Given the description of an element on the screen output the (x, y) to click on. 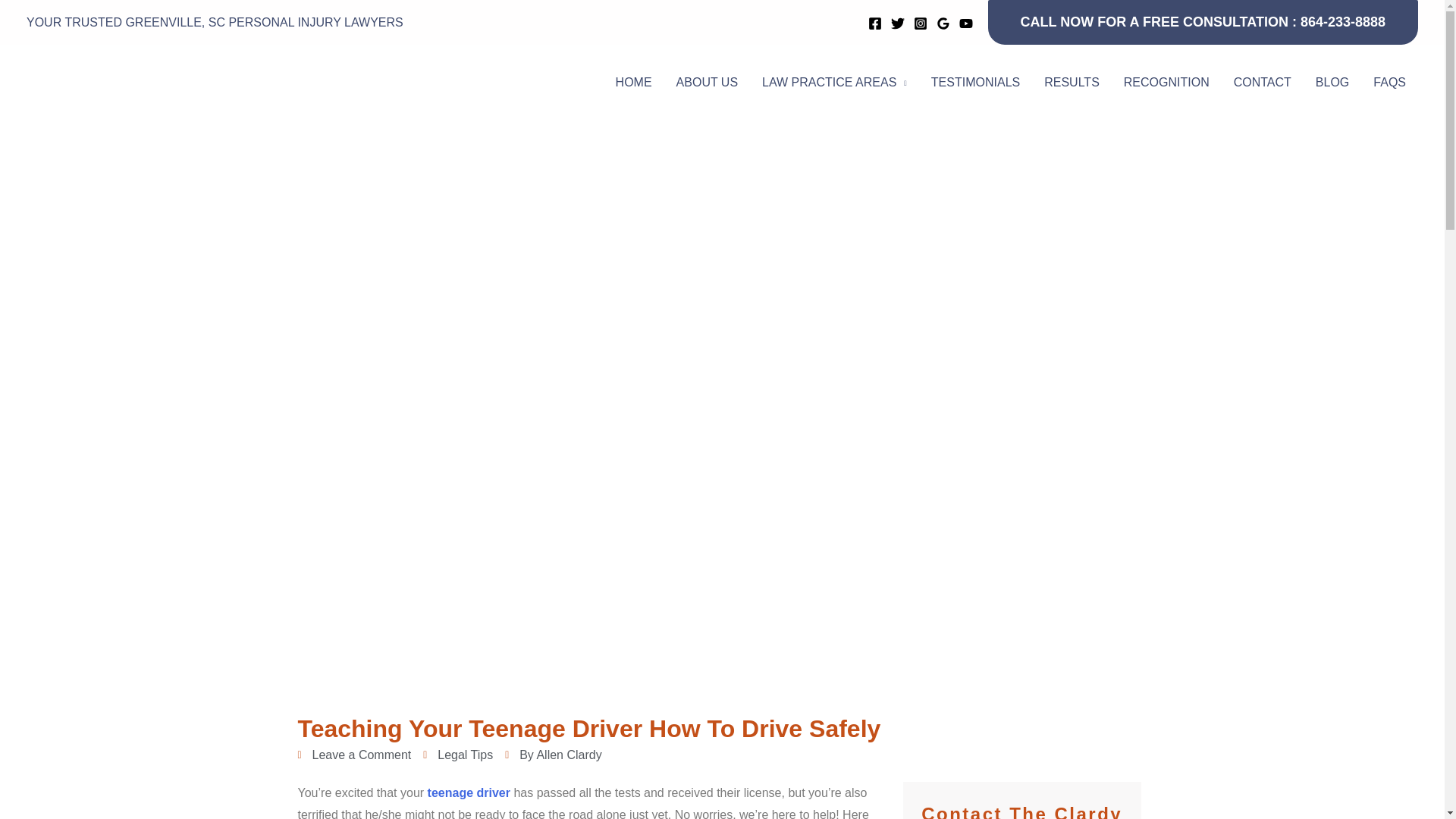
CALL NOW FOR A FREE CONSULTATION : 864-233-8888 (1203, 22)
LAW PRACTICE AREAS (833, 82)
TESTIMONIALS (975, 82)
RECOGNITION (1166, 82)
ABOUT US (707, 82)
CONTACT (1262, 82)
RESULTS (1072, 82)
